Given the description of an element on the screen output the (x, y) to click on. 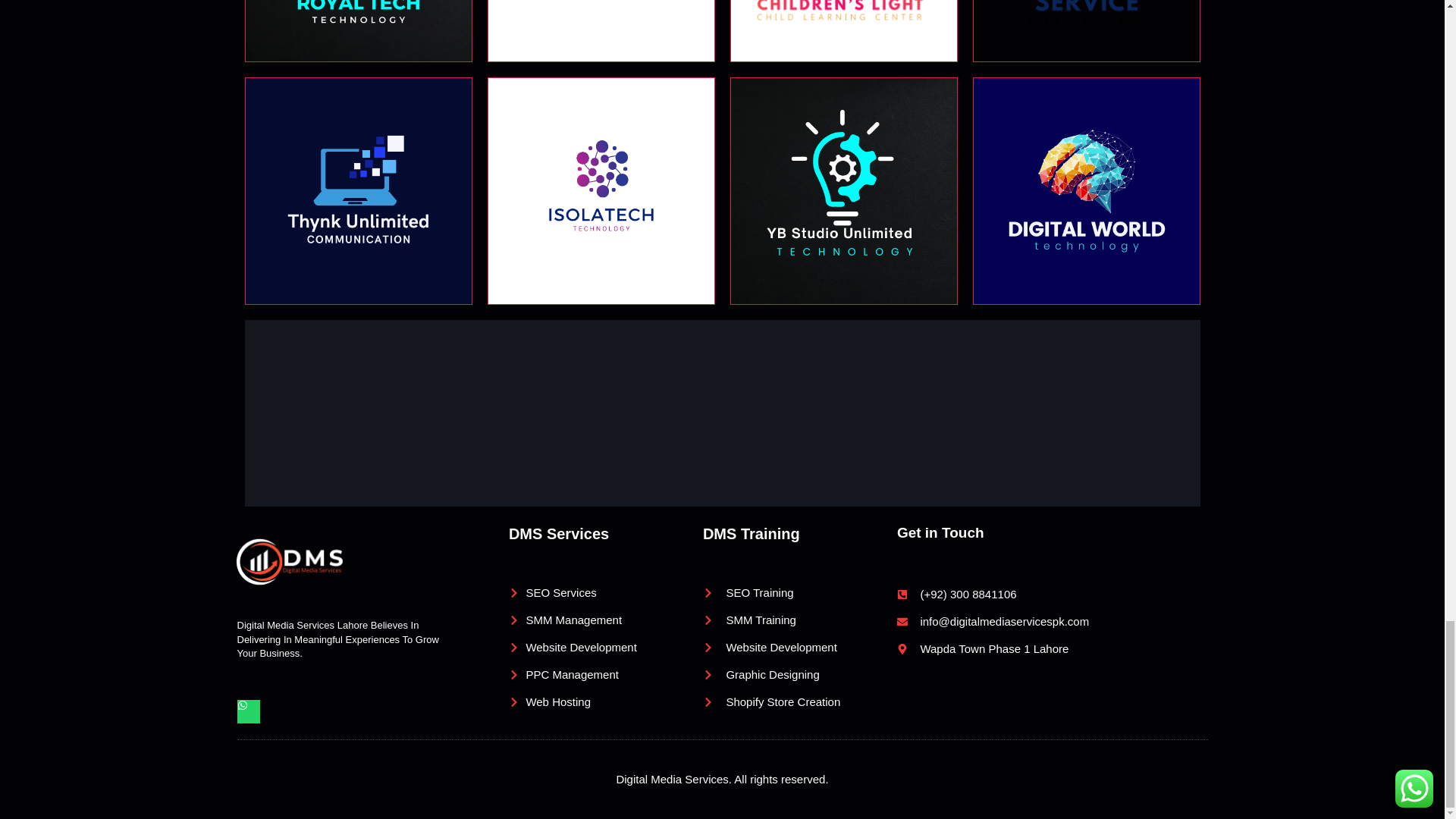
PPC Management (605, 674)
SMM Management (605, 619)
Web Hosting (605, 701)
Website Development (605, 647)
SEO Services (605, 592)
SMM Training (799, 619)
SEO Training (799, 592)
